Given the description of an element on the screen output the (x, y) to click on. 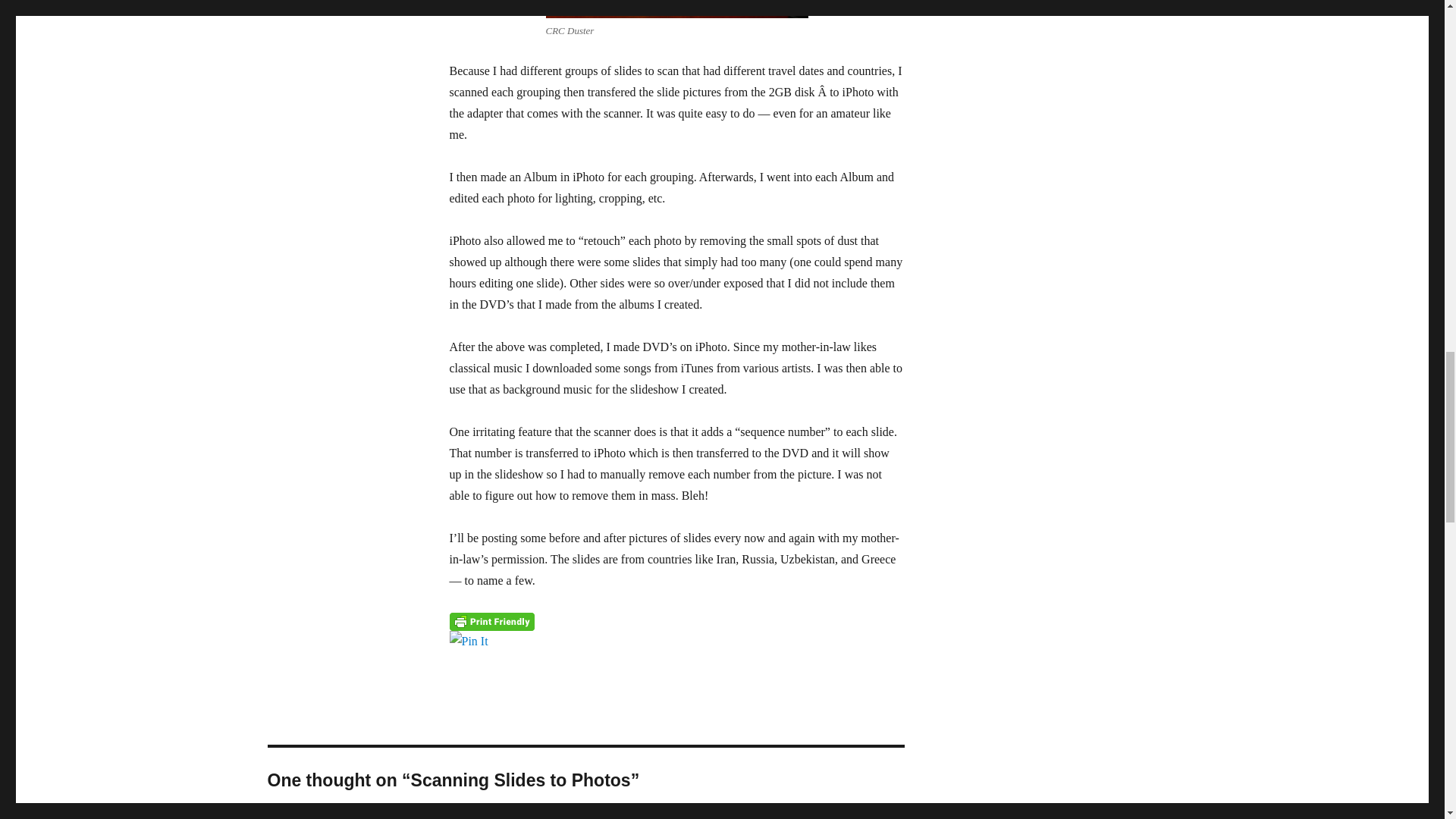
Pin It (676, 640)
